Given the description of an element on the screen output the (x, y) to click on. 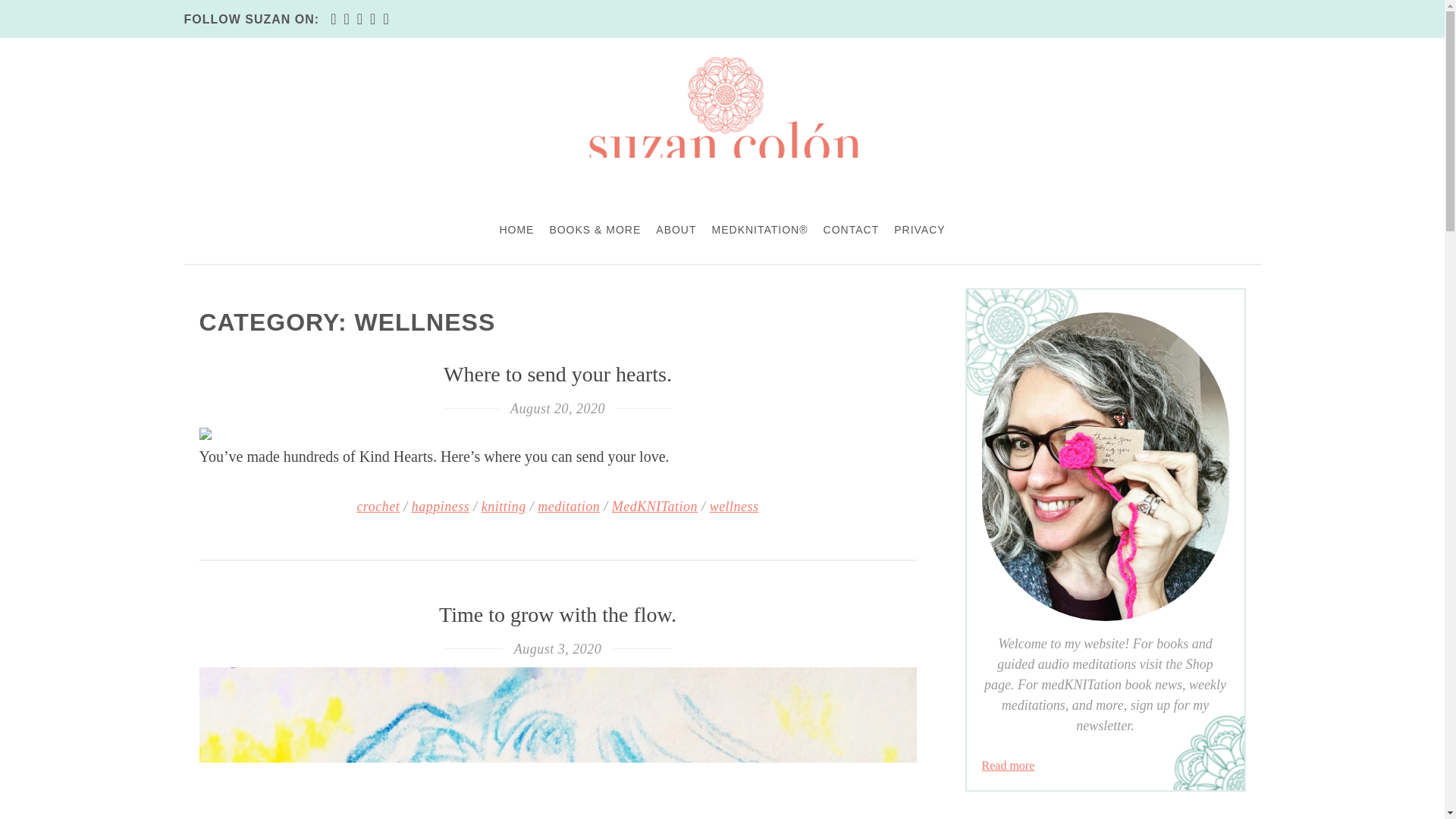
crochet (377, 506)
happiness (441, 506)
ABOUT (675, 229)
knitting (503, 506)
Time to grow with the flow. (558, 614)
PRIVACY (919, 229)
MedKNITation (654, 506)
wellness (734, 506)
Where to send your hearts. (557, 373)
CONTACT (850, 229)
meditation (568, 506)
HOME (516, 229)
